Given the description of an element on the screen output the (x, y) to click on. 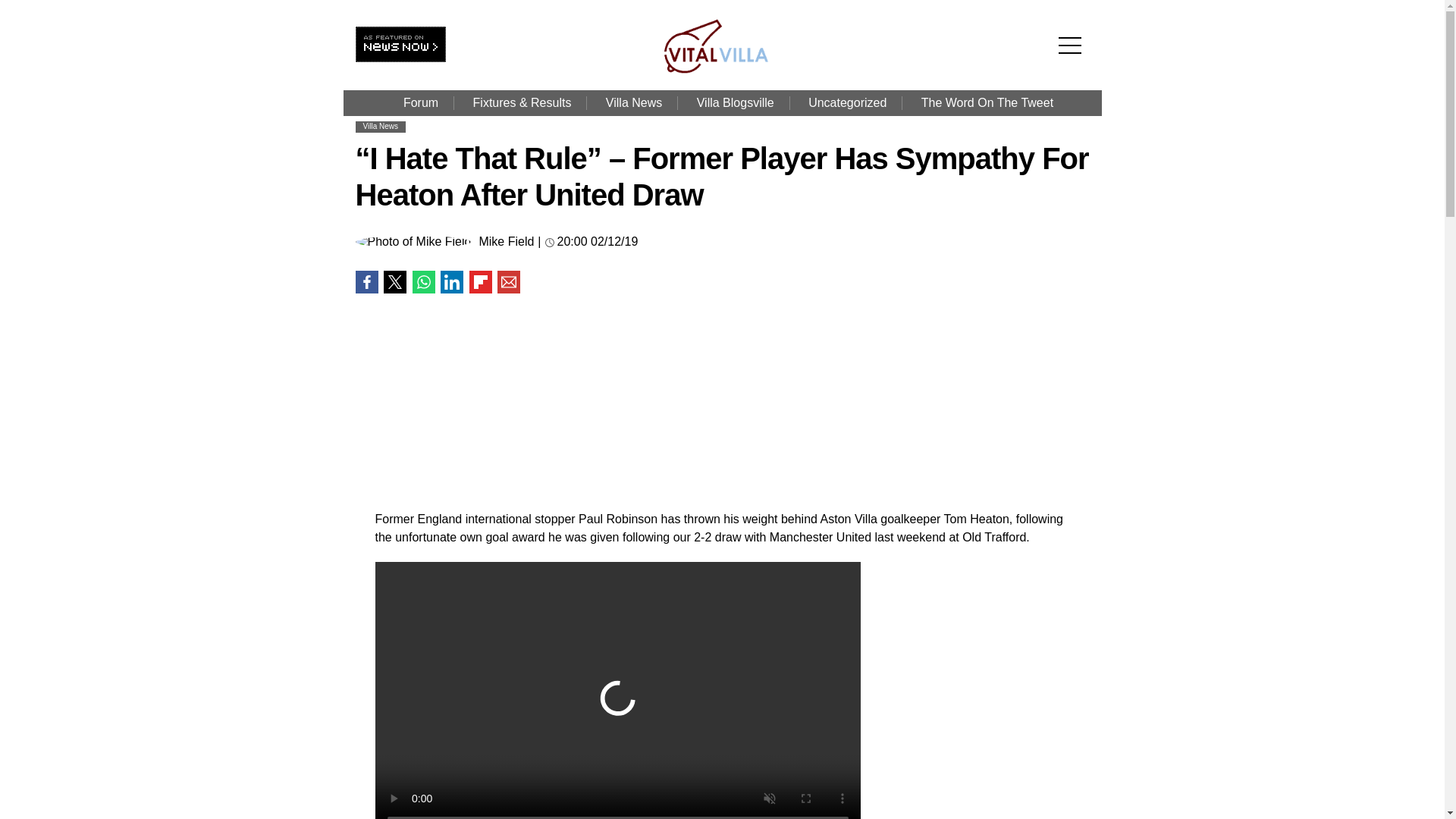
share on Twitter (395, 282)
share on LinkedIn (452, 282)
share on Email (508, 282)
Villa News (379, 126)
The Word On The Tweet (986, 102)
Mike Field (506, 241)
share on Facebook (366, 282)
Villa Blogsville (735, 102)
Back to the homepage (725, 69)
Villa News (634, 102)
share on WhatsApp (423, 282)
Forum (420, 102)
share on Flipboard (480, 282)
Uncategorized (847, 102)
Menu (1074, 21)
